Given the description of an element on the screen output the (x, y) to click on. 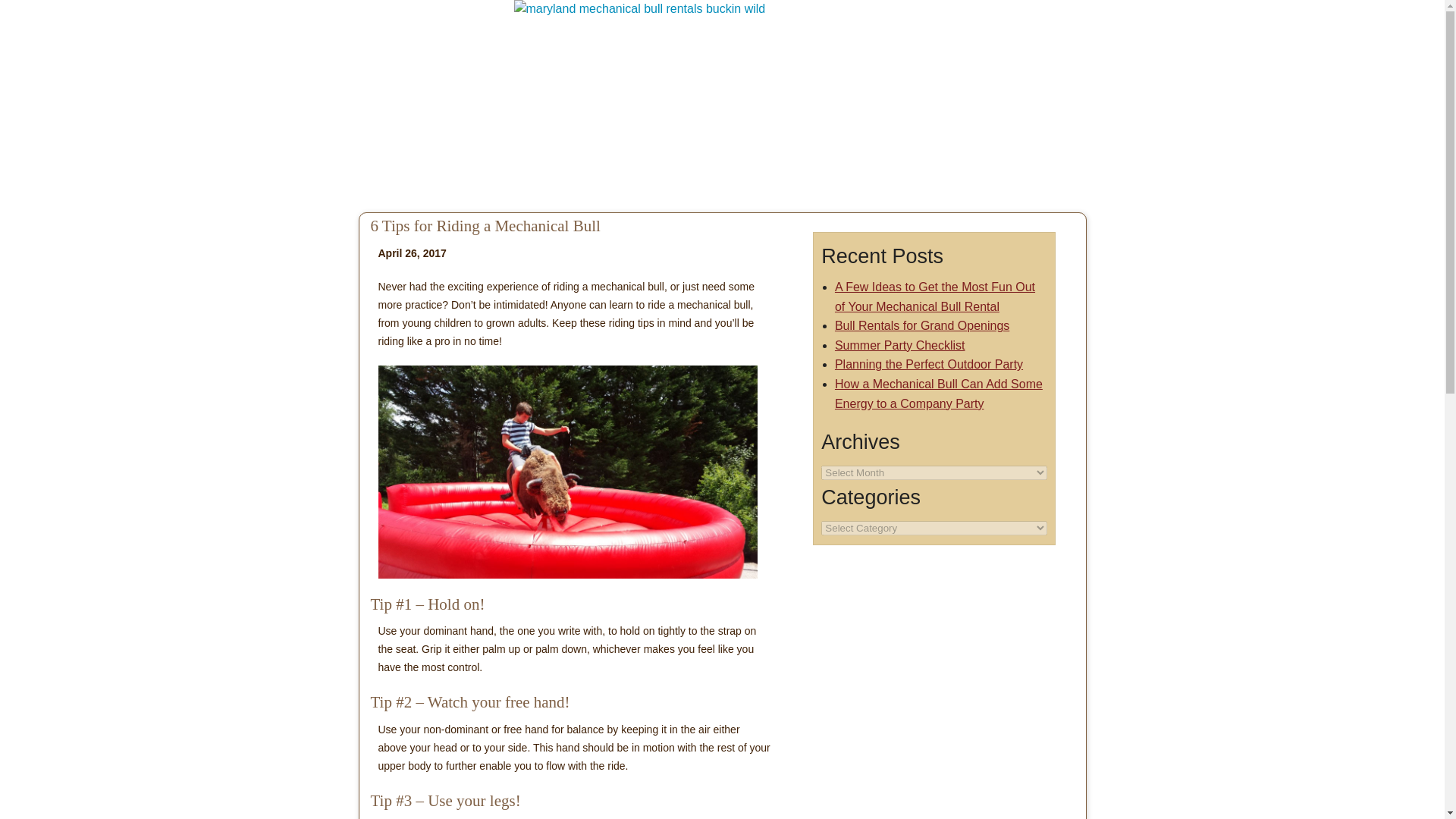
EVENTS (493, 101)
Bull Rentals for Grand Openings (921, 325)
Planning the Perfect Outdoor Party (928, 364)
Summer Party Checklist (899, 345)
717-989-5744 (1025, 45)
EQUIPMENT (395, 101)
How a Mechanical Bull Can Add Some Energy to a Company Party (938, 393)
Tips for Riding a Mechanical Bull (567, 471)
CONTACT (1030, 101)
ABOUT (943, 101)
